Given the description of an element on the screen output the (x, y) to click on. 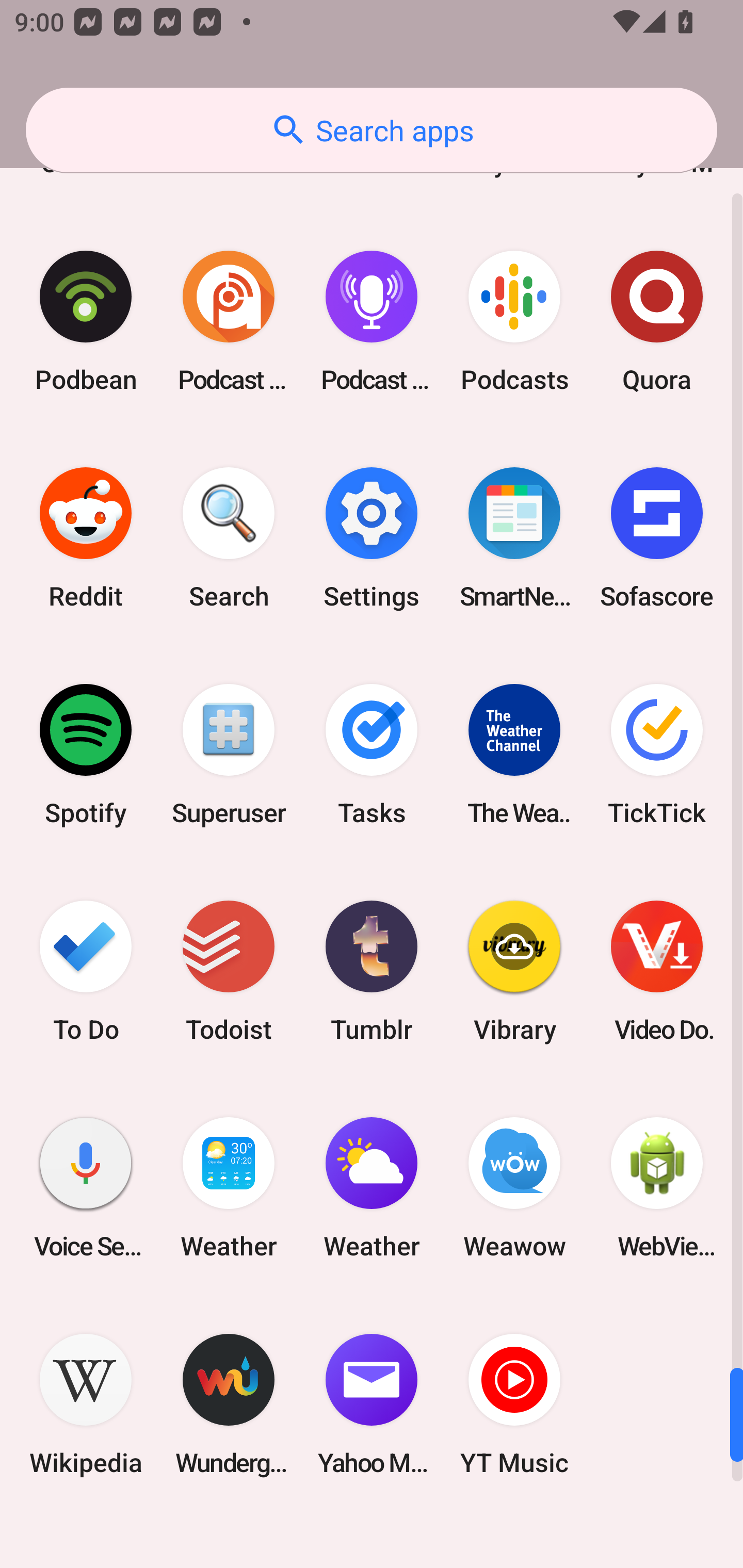
  Search apps (371, 130)
Podbean (85, 321)
Podcast Addict (228, 321)
Podcast Player (371, 321)
Podcasts (514, 321)
Quora (656, 321)
Reddit (85, 537)
Search (228, 537)
Settings (371, 537)
SmartNews (514, 537)
Sofascore (656, 537)
Spotify (85, 754)
Superuser (228, 754)
Tasks (371, 754)
The Weather Channel (514, 754)
TickTick (656, 754)
To Do (85, 970)
Todoist (228, 970)
Tumblr (371, 970)
Vibrary (514, 970)
Video Downloader & Ace Player (656, 970)
Voice Search (85, 1187)
Weather (228, 1187)
Weather (371, 1187)
Weawow (514, 1187)
WebView Browser Tester (656, 1187)
Wikipedia (85, 1404)
Wunderground (228, 1404)
Yahoo Mail (371, 1404)
YT Music (514, 1404)
